Given the description of an element on the screen output the (x, y) to click on. 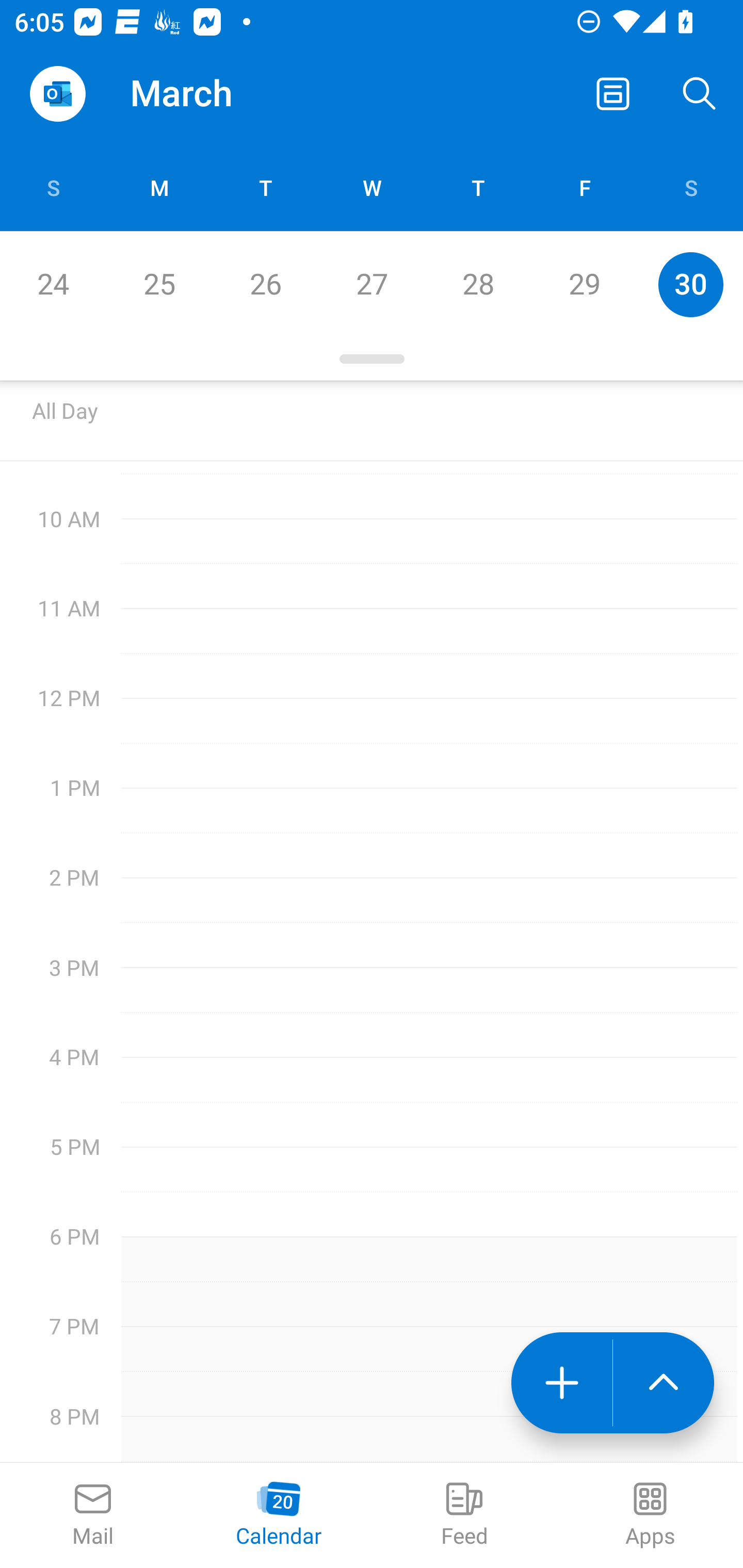
March March 2024, day picker (209, 93)
Switch away from Day view (612, 93)
Search, ,  (699, 93)
Open Navigation Drawer (57, 94)
24 Sunday, March 24 (53, 284)
25 Monday, March 25 (159, 284)
26 Tuesday, March 26 (265, 284)
27 Wednesday, March 27 (371, 284)
28 Thursday, March 28 (477, 284)
29 Friday, March 29 (584, 284)
30 Saturday, March 30, Selected (690, 284)
Day picker (371, 359)
New event (561, 1382)
launch the extended action menu (663, 1382)
Mail (92, 1515)
Feed (464, 1515)
Apps (650, 1515)
